Given the description of an element on the screen output the (x, y) to click on. 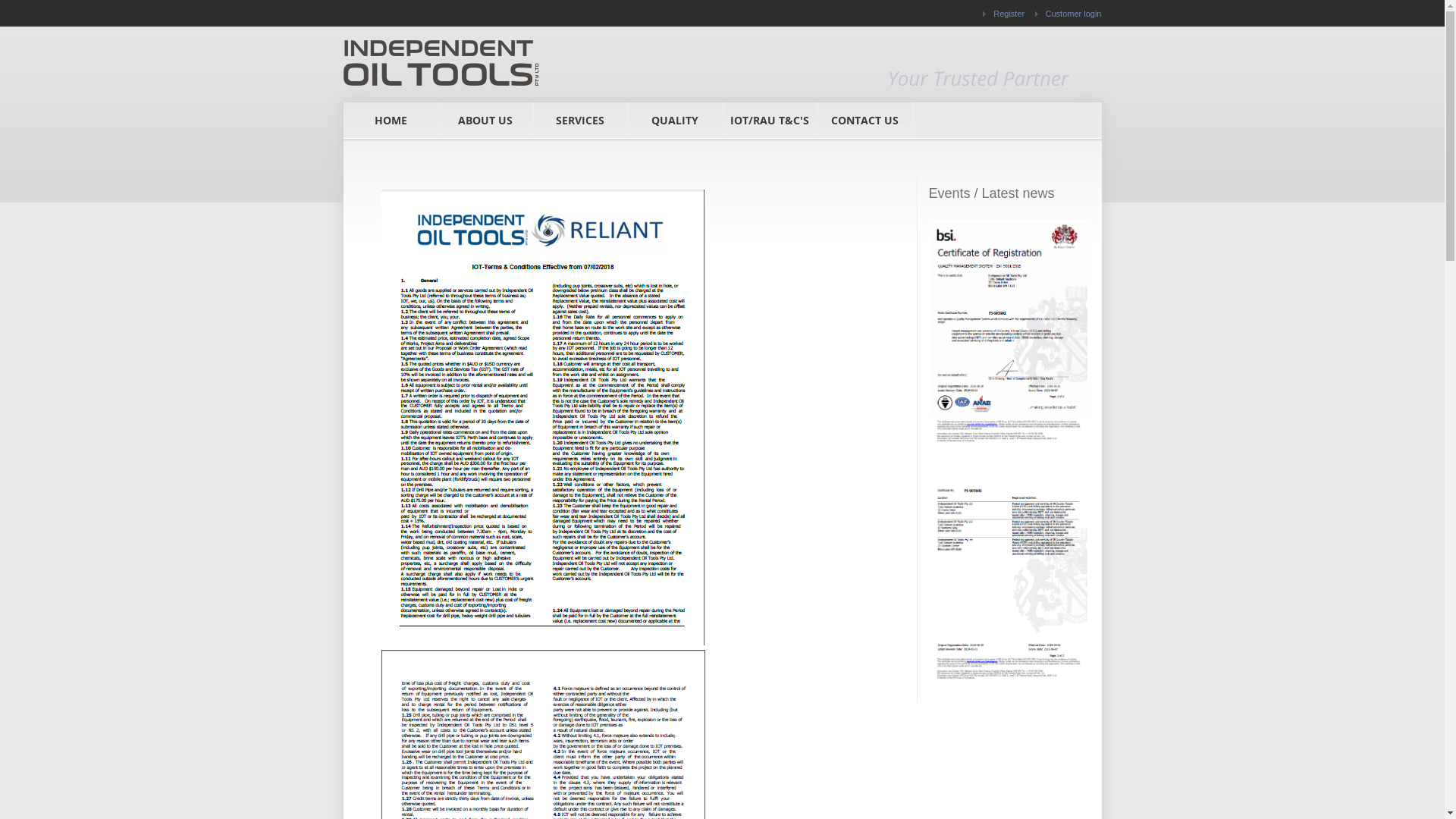
SERVICES Element type: text (579, 120)
Customer login Element type: text (1068, 13)
ABOUT US Element type: text (485, 120)
CONTACT US Element type: text (864, 120)
QUALITY Element type: text (674, 120)
Register Element type: text (1003, 13)
HOME Element type: text (389, 120)
IOT/RAU T&C'S Element type: text (768, 120)
